Given the description of an element on the screen output the (x, y) to click on. 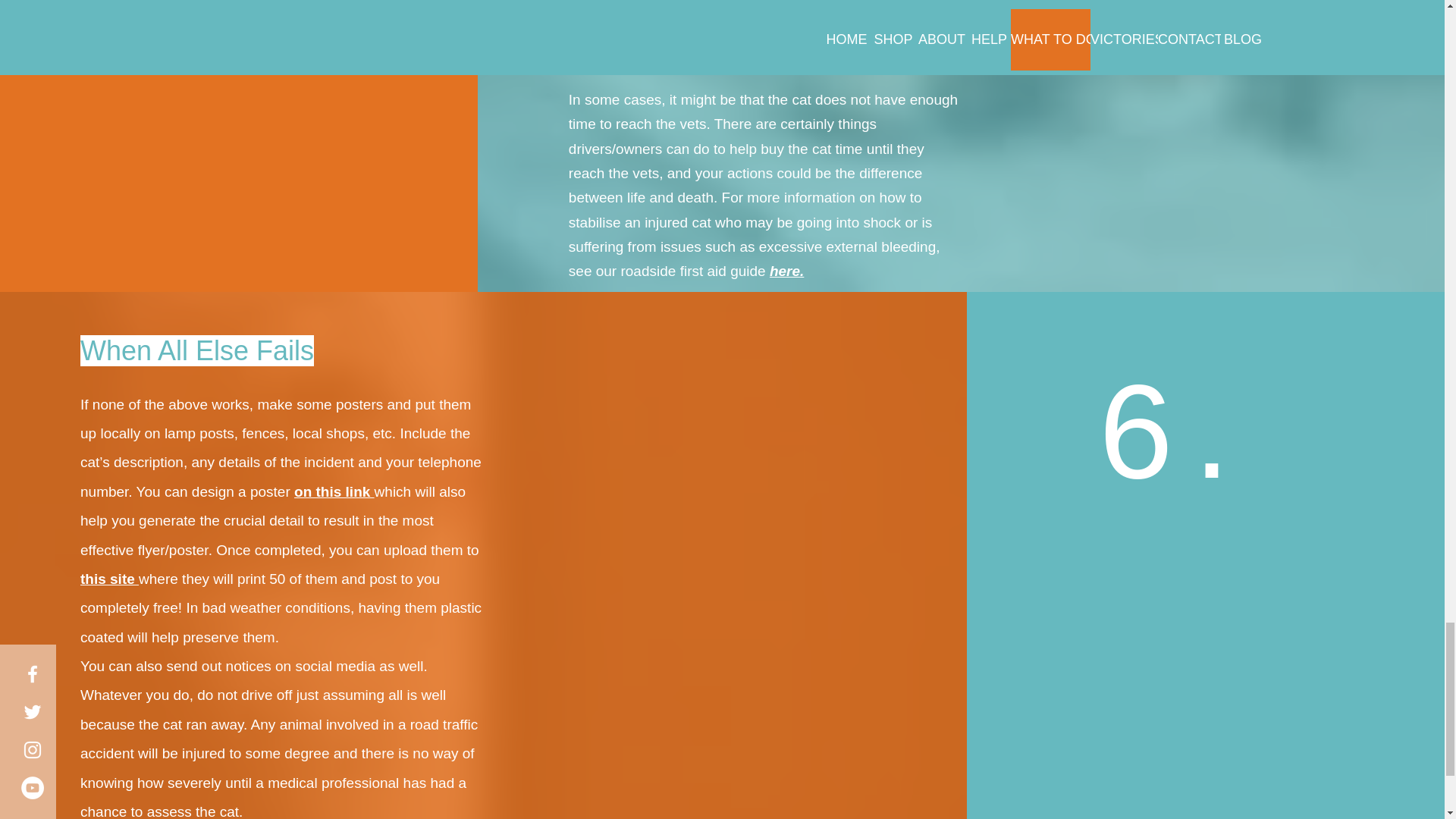
on this link (334, 491)
which will (404, 491)
this site  (109, 578)
here. (786, 270)
